Given the description of an element on the screen output the (x, y) to click on. 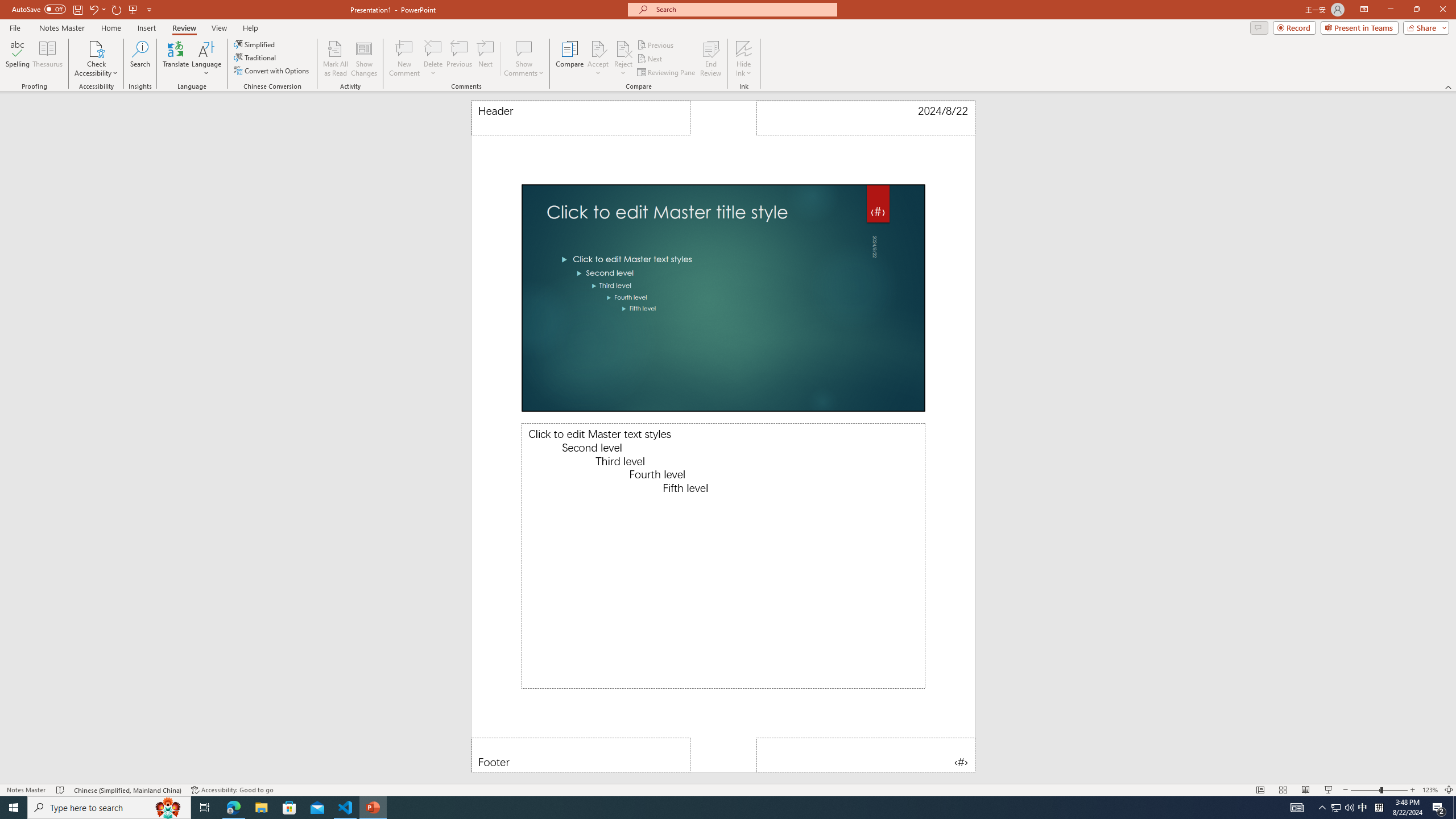
Traditional (255, 56)
Reject Change (622, 48)
Zoom 123% (1430, 790)
Translate (175, 58)
